Given the description of an element on the screen output the (x, y) to click on. 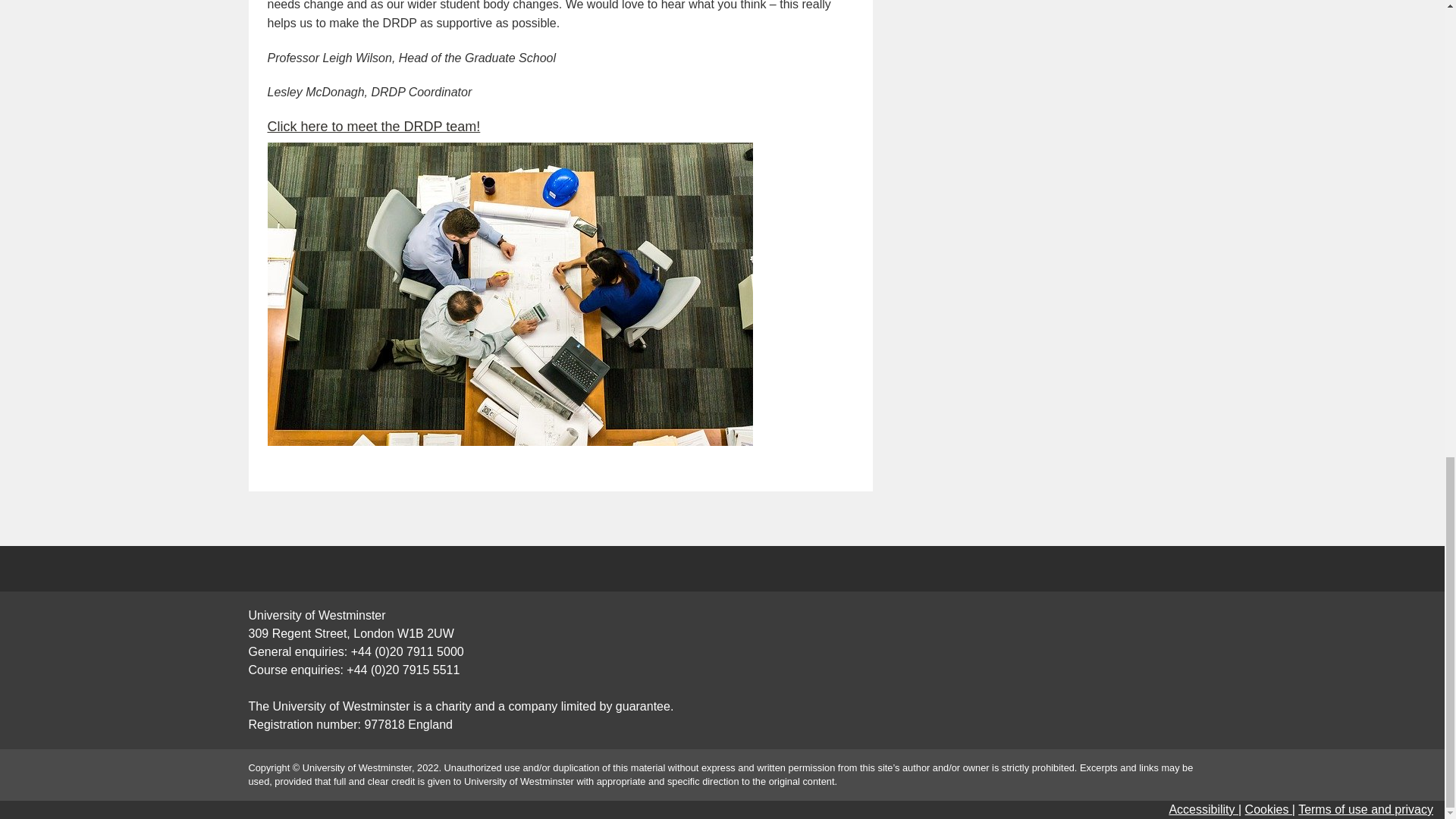
Click here to meet the DRDP team! (373, 126)
